Given the description of an element on the screen output the (x, y) to click on. 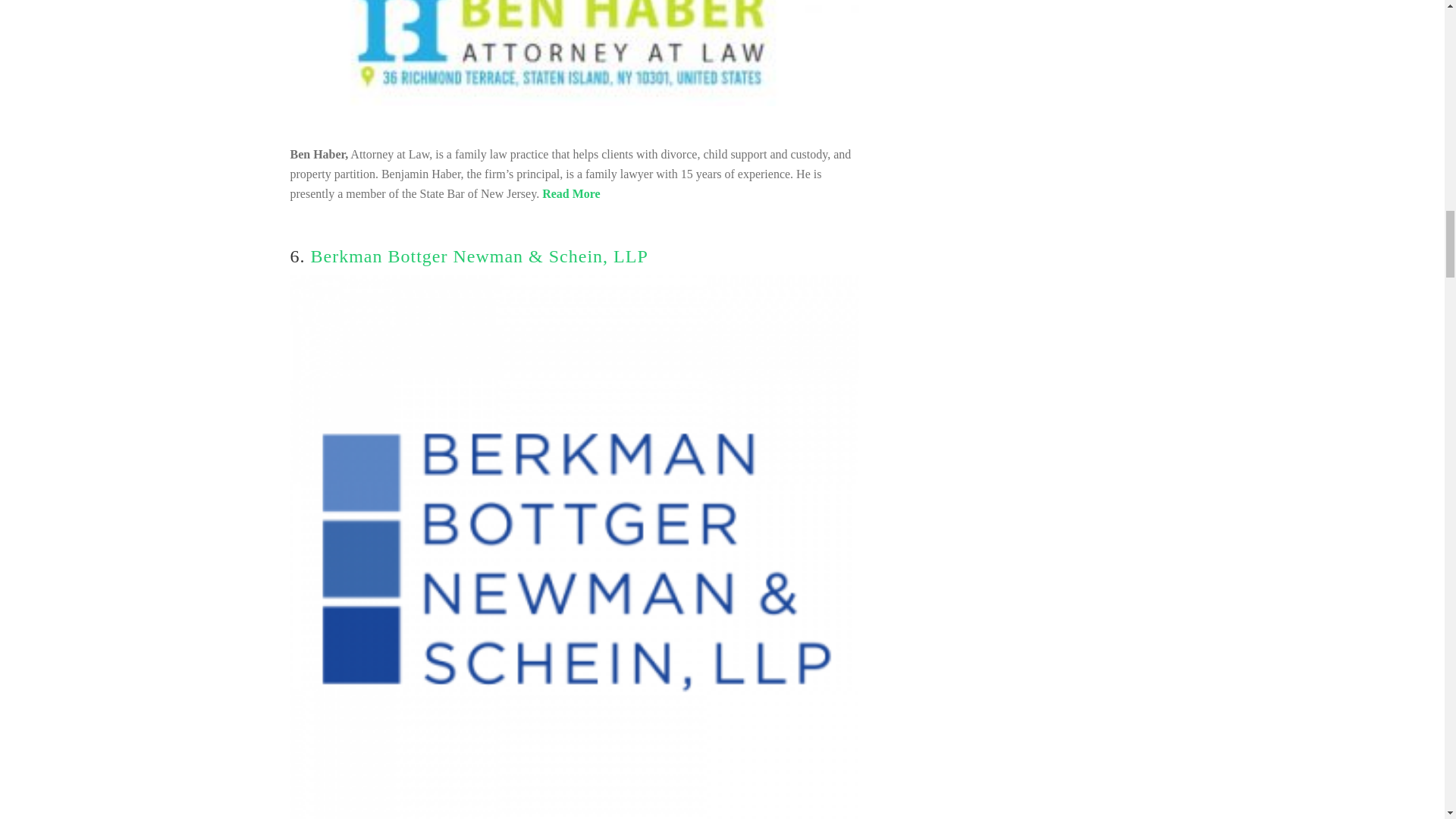
Read More (570, 193)
